Given the description of an element on the screen output the (x, y) to click on. 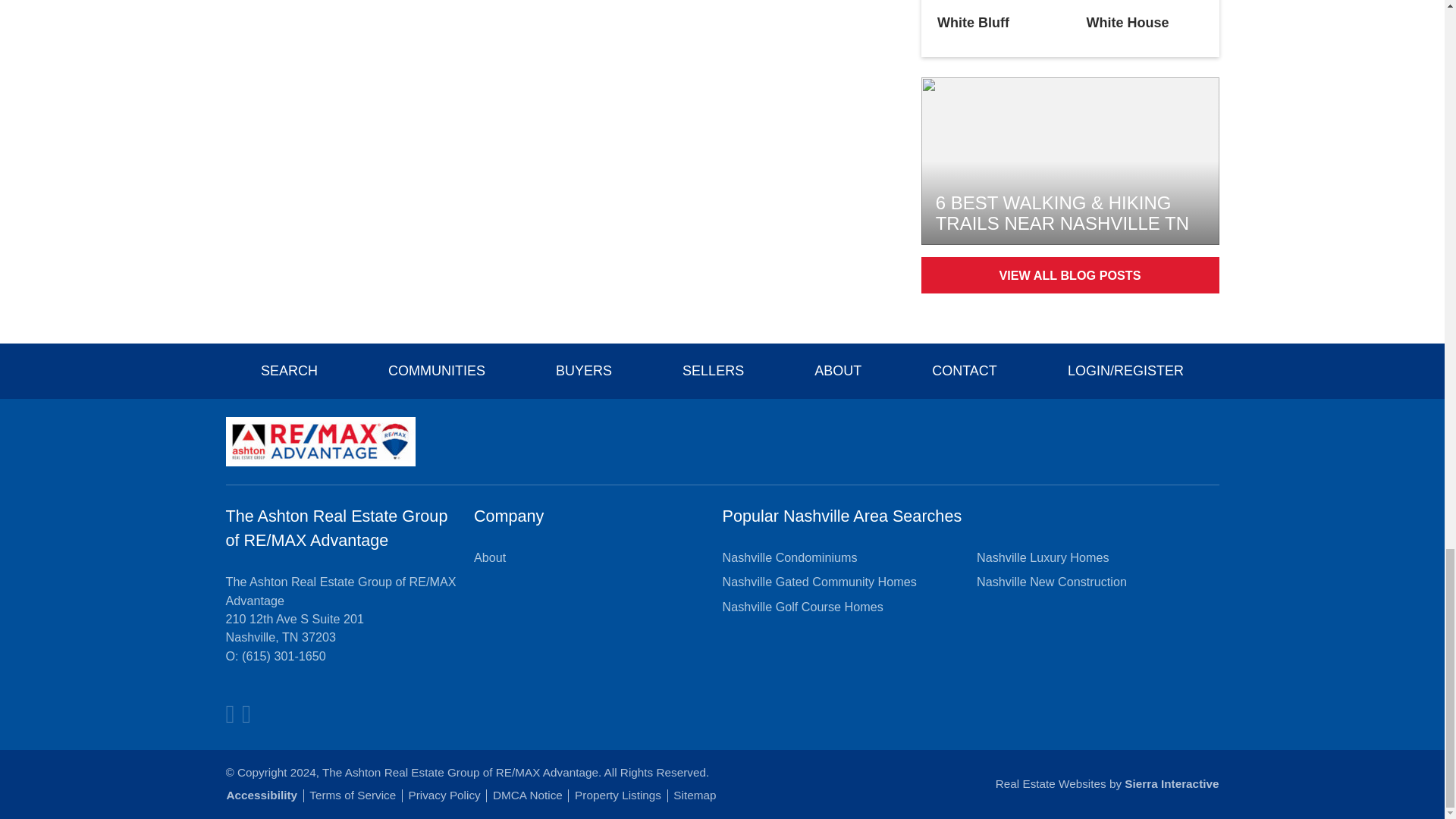
View Nashville Condominiums (789, 556)
View Nashville Gated Community Homes (818, 581)
Home Page (319, 440)
View About (489, 556)
